Given the description of an element on the screen output the (x, y) to click on. 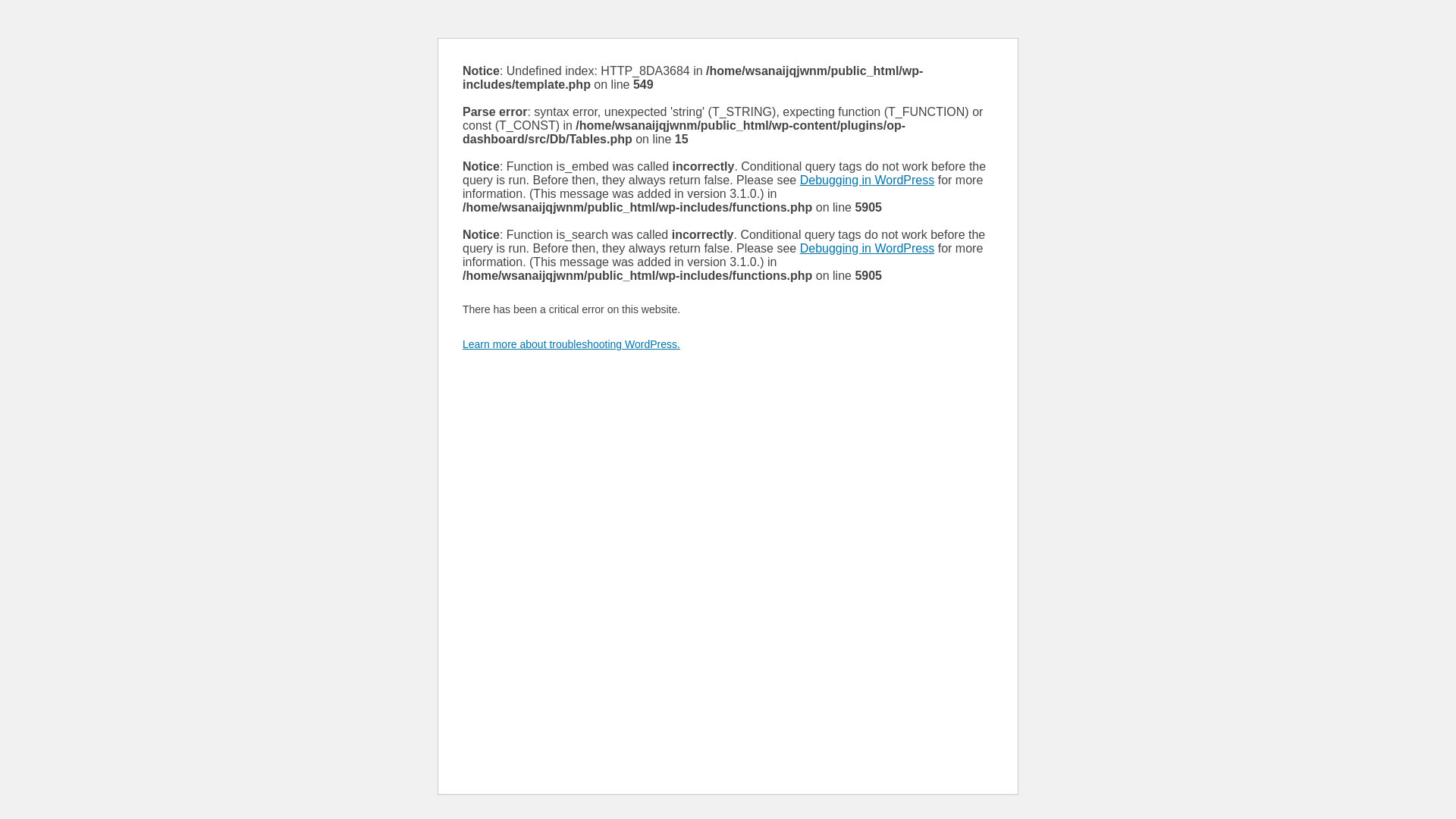
Learn more about troubleshooting WordPress. Element type: text (571, 344)
Debugging in WordPress Element type: text (867, 247)
Debugging in WordPress Element type: text (867, 179)
